Given the description of an element on the screen output the (x, y) to click on. 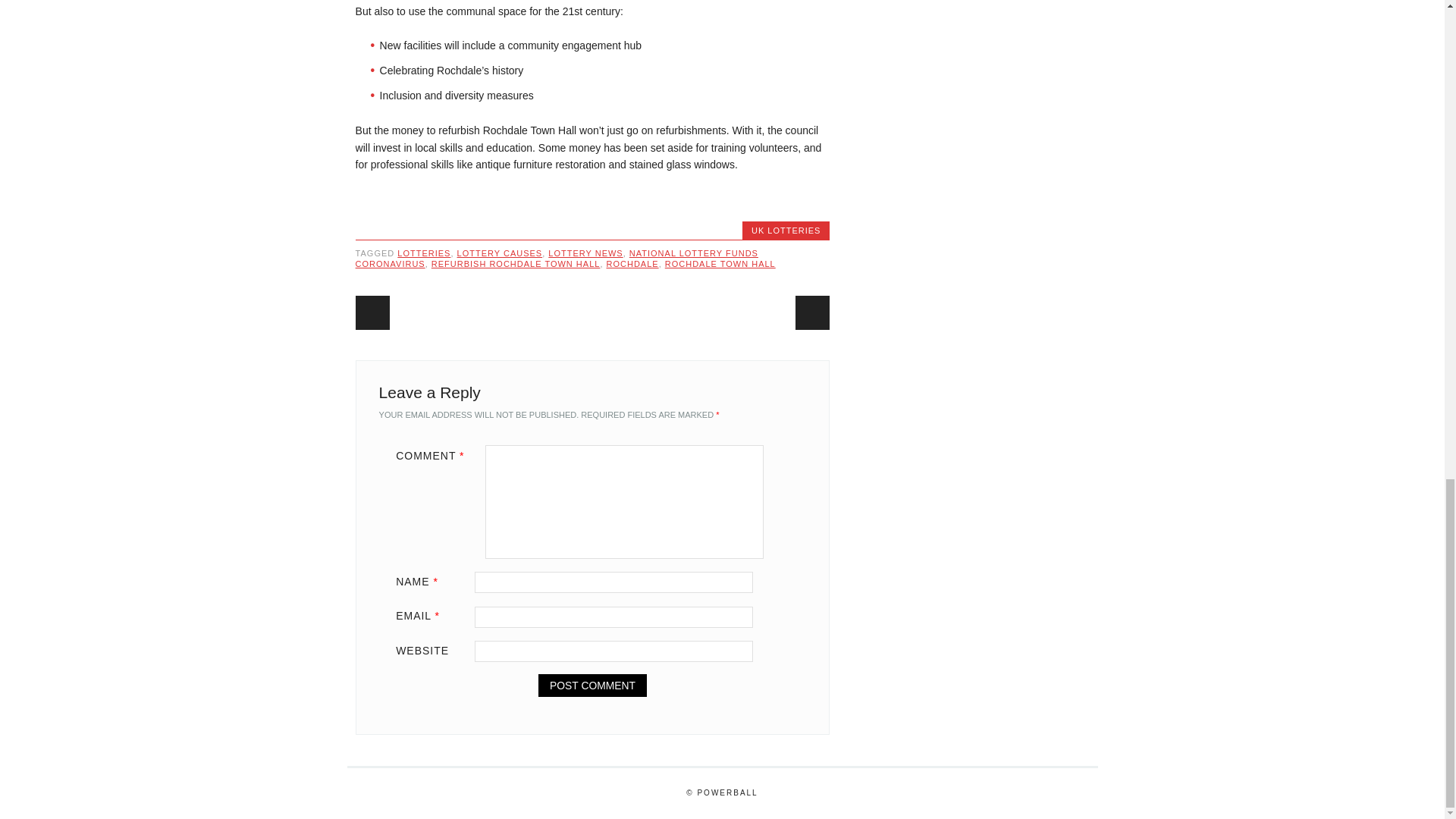
LOTTERY CAUSES (500, 252)
NATIONAL LOTTERY FUNDS CORONAVIRUS (556, 258)
Post Comment (592, 685)
ROCHDALE (633, 263)
ROCHDALE TOWN HALL (720, 263)
LOTTERIES (423, 252)
LOTTERY NEWS (585, 252)
REFURBISH ROCHDALE TOWN HALL (514, 263)
UK LOTTERIES (786, 230)
Post Comment (592, 685)
